Given the description of an element on the screen output the (x, y) to click on. 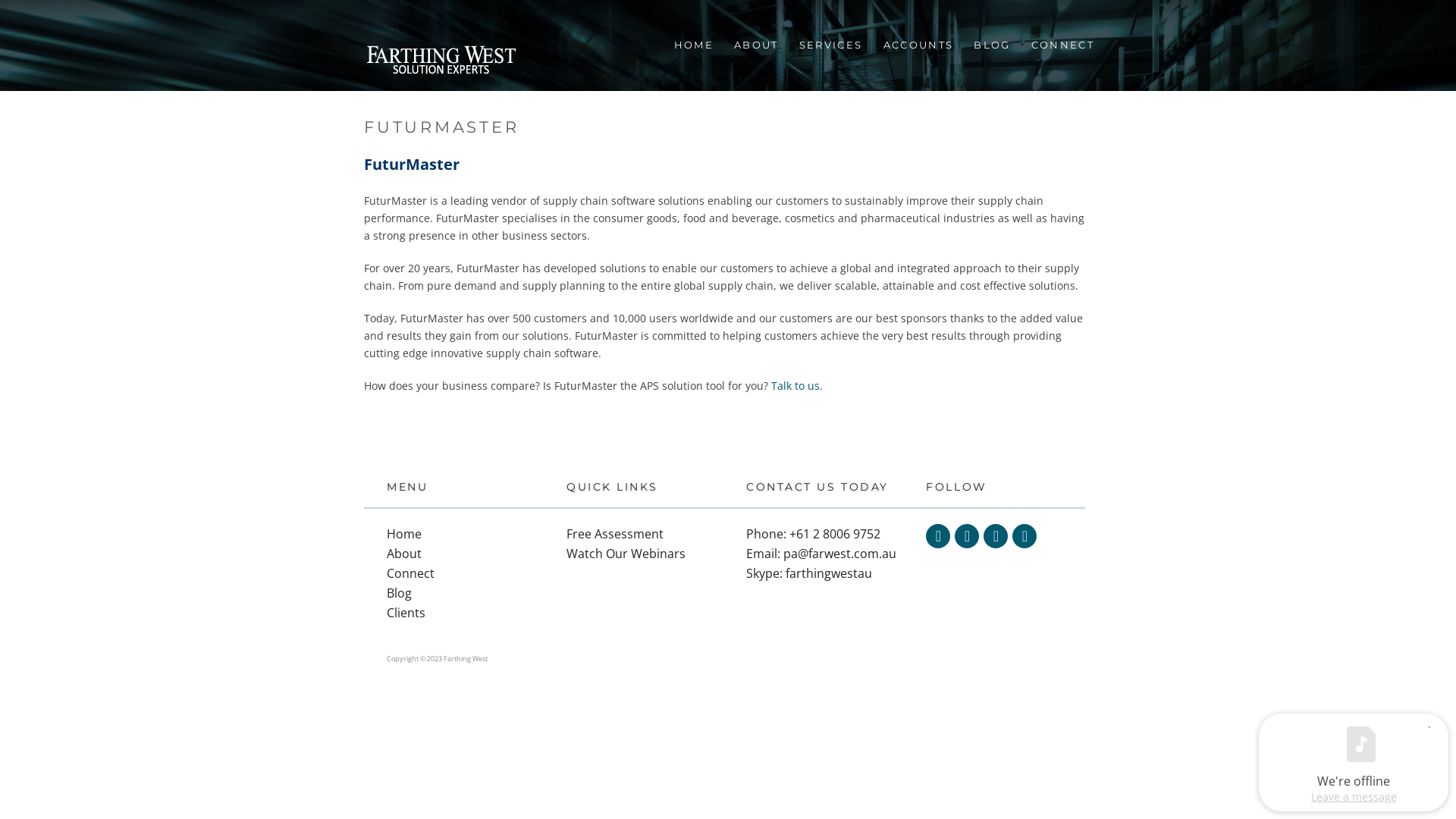
ABOUT Element type: text (754, 44)
FARTHING WEST Element type: text (440, 61)
Talk to us Element type: text (795, 385)
Watch Our Webinars Element type: text (625, 553)
BLOG Element type: text (990, 44)
Twitter Element type: text (937, 536)
Blog Element type: text (398, 592)
SERVICES Element type: text (829, 44)
Free Assessment Element type: text (614, 533)
Clients Element type: text (405, 612)
Facebook Element type: text (966, 536)
Connect Element type: text (410, 572)
LinkedIn Element type: text (995, 536)
ACCOUNTS Element type: text (917, 44)
About Element type: text (403, 553)
Youtube Element type: text (1024, 536)
Home Element type: text (403, 533)
CONNECT Element type: text (1061, 44)
HOME Element type: text (692, 44)
